Given the description of an element on the screen output the (x, y) to click on. 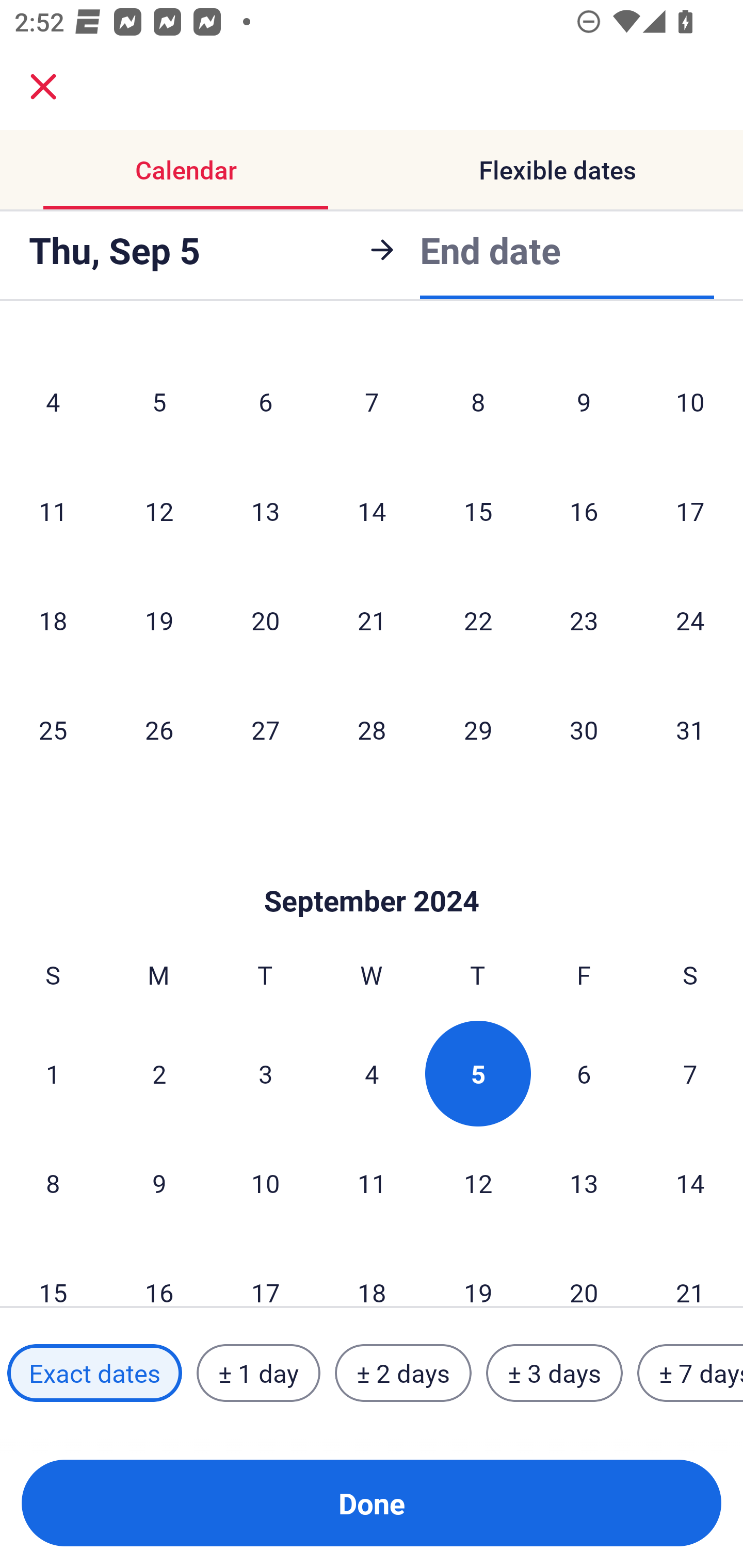
close. (43, 86)
Flexible dates (557, 170)
End date (489, 249)
4 Sunday, August 4, 2024 (53, 401)
5 Monday, August 5, 2024 (159, 401)
6 Tuesday, August 6, 2024 (265, 401)
7 Wednesday, August 7, 2024 (371, 401)
8 Thursday, August 8, 2024 (477, 401)
9 Friday, August 9, 2024 (584, 401)
10 Saturday, August 10, 2024 (690, 401)
11 Sunday, August 11, 2024 (53, 510)
12 Monday, August 12, 2024 (159, 510)
13 Tuesday, August 13, 2024 (265, 510)
14 Wednesday, August 14, 2024 (371, 510)
15 Thursday, August 15, 2024 (477, 510)
16 Friday, August 16, 2024 (584, 510)
17 Saturday, August 17, 2024 (690, 510)
18 Sunday, August 18, 2024 (53, 619)
19 Monday, August 19, 2024 (159, 619)
20 Tuesday, August 20, 2024 (265, 619)
21 Wednesday, August 21, 2024 (371, 619)
22 Thursday, August 22, 2024 (477, 619)
23 Friday, August 23, 2024 (584, 619)
24 Saturday, August 24, 2024 (690, 619)
25 Sunday, August 25, 2024 (53, 729)
26 Monday, August 26, 2024 (159, 729)
27 Tuesday, August 27, 2024 (265, 729)
28 Wednesday, August 28, 2024 (371, 729)
29 Thursday, August 29, 2024 (477, 729)
30 Friday, August 30, 2024 (584, 729)
31 Saturday, August 31, 2024 (690, 729)
Skip to Done (371, 870)
1 Sunday, September 1, 2024 (53, 1072)
2 Monday, September 2, 2024 (159, 1072)
3 Tuesday, September 3, 2024 (265, 1072)
4 Wednesday, September 4, 2024 (371, 1072)
6 Friday, September 6, 2024 (584, 1072)
7 Saturday, September 7, 2024 (690, 1072)
8 Sunday, September 8, 2024 (53, 1182)
9 Monday, September 9, 2024 (159, 1182)
10 Tuesday, September 10, 2024 (265, 1182)
11 Wednesday, September 11, 2024 (371, 1182)
12 Thursday, September 12, 2024 (477, 1182)
13 Friday, September 13, 2024 (584, 1182)
14 Saturday, September 14, 2024 (690, 1182)
15 Sunday, September 15, 2024 (53, 1272)
16 Monday, September 16, 2024 (159, 1272)
17 Tuesday, September 17, 2024 (265, 1272)
18 Wednesday, September 18, 2024 (371, 1272)
19 Thursday, September 19, 2024 (477, 1272)
20 Friday, September 20, 2024 (584, 1272)
21 Saturday, September 21, 2024 (690, 1272)
Exact dates (94, 1372)
± 1 day (258, 1372)
± 2 days (403, 1372)
± 3 days (553, 1372)
± 7 days (690, 1372)
Done (371, 1502)
